Given the description of an element on the screen output the (x, y) to click on. 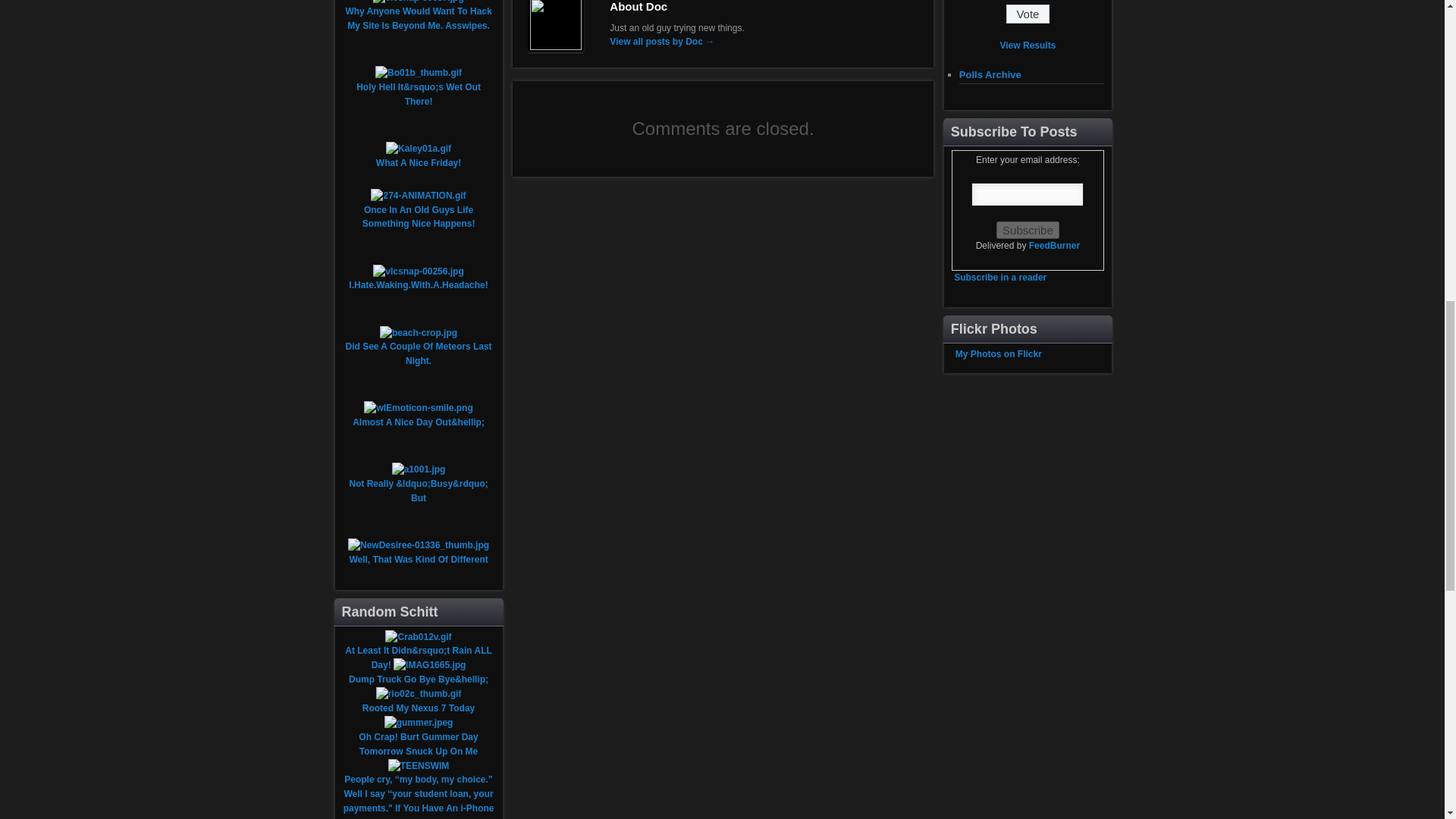
Subscribe (1027, 230)
What A Nice Friday! (418, 163)
   Vote    (1027, 14)
